Given the description of an element on the screen output the (x, y) to click on. 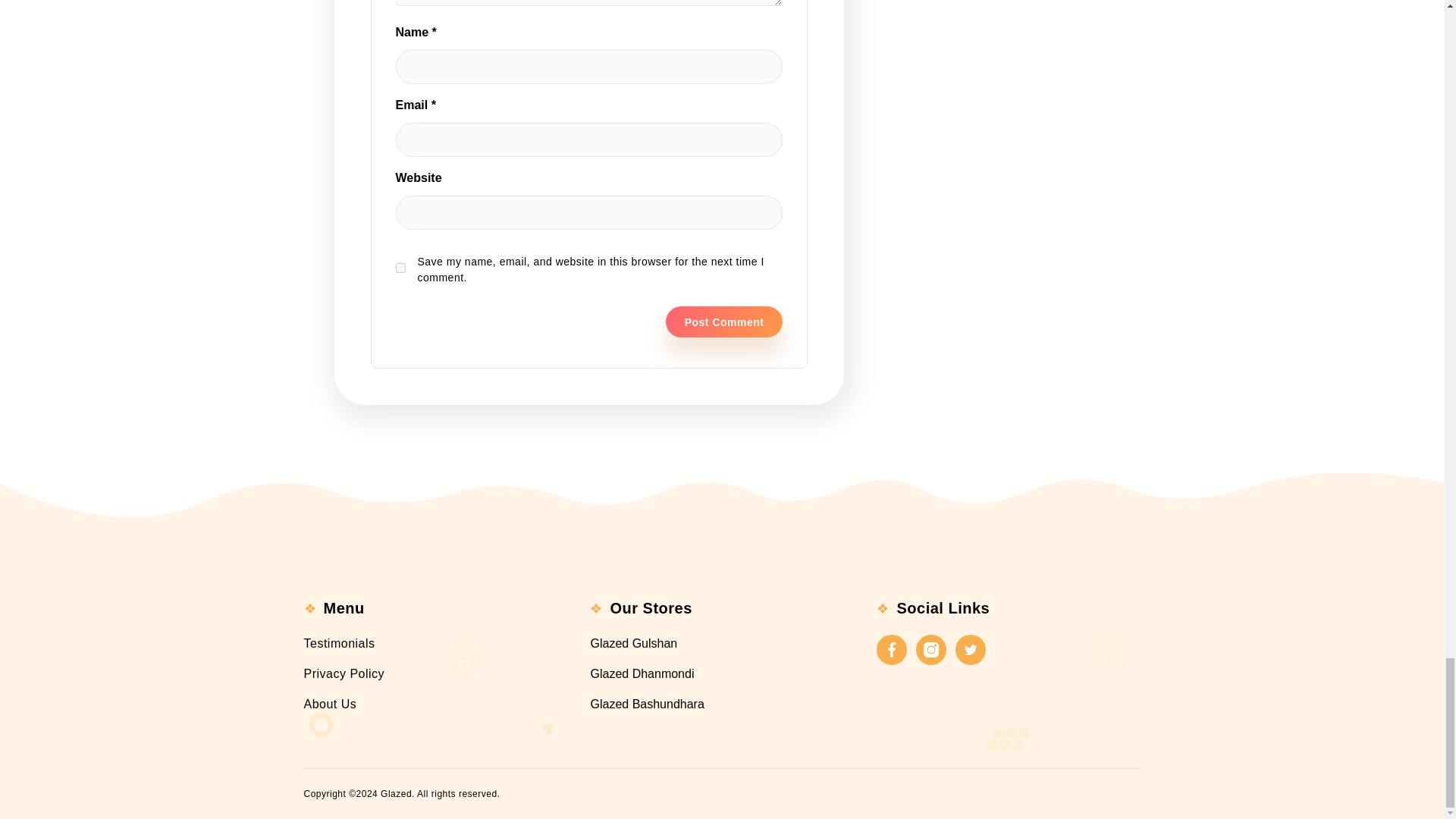
Post Comment (724, 322)
Post Comment (724, 322)
yes (401, 267)
